Given the description of an element on the screen output the (x, y) to click on. 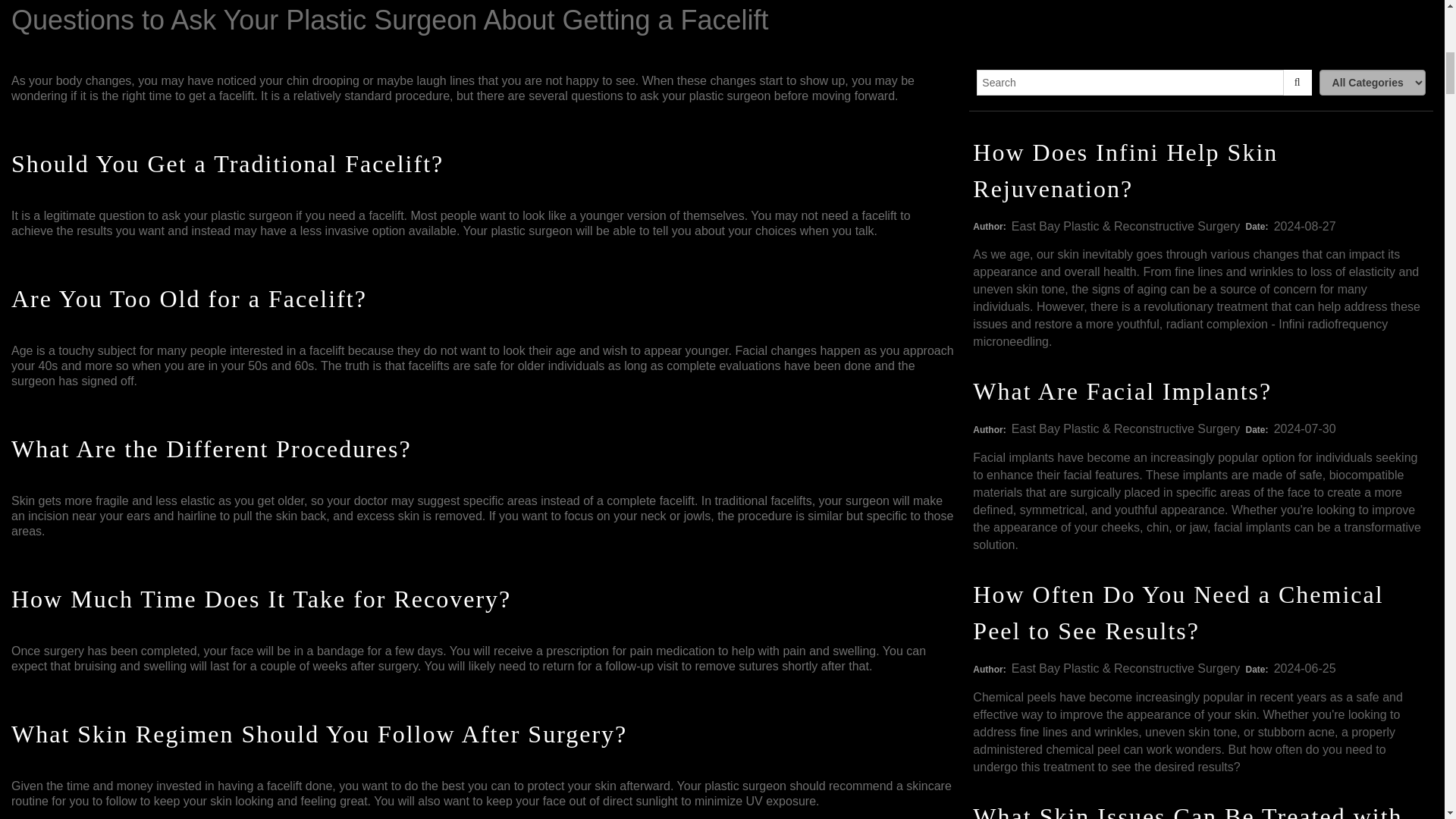
What Skin Issues Can Be Treated with INFINI? (1187, 811)
How Often Do You Need a Chemical Peel to See Results? (1177, 612)
How Does Infini Help Skin Rejuvenation? (1125, 170)
What Are Facial Implants? (1121, 390)
